Given the description of an element on the screen output the (x, y) to click on. 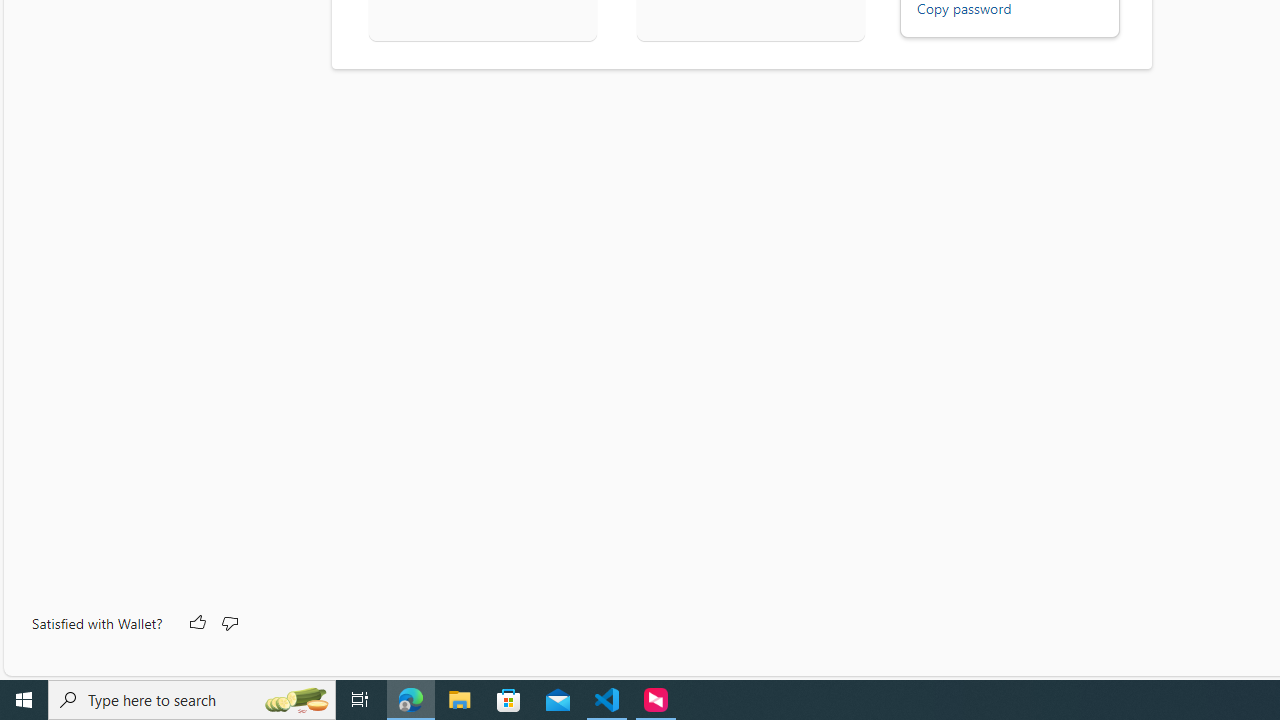
Like (196, 623)
